Given the description of an element on the screen output the (x, y) to click on. 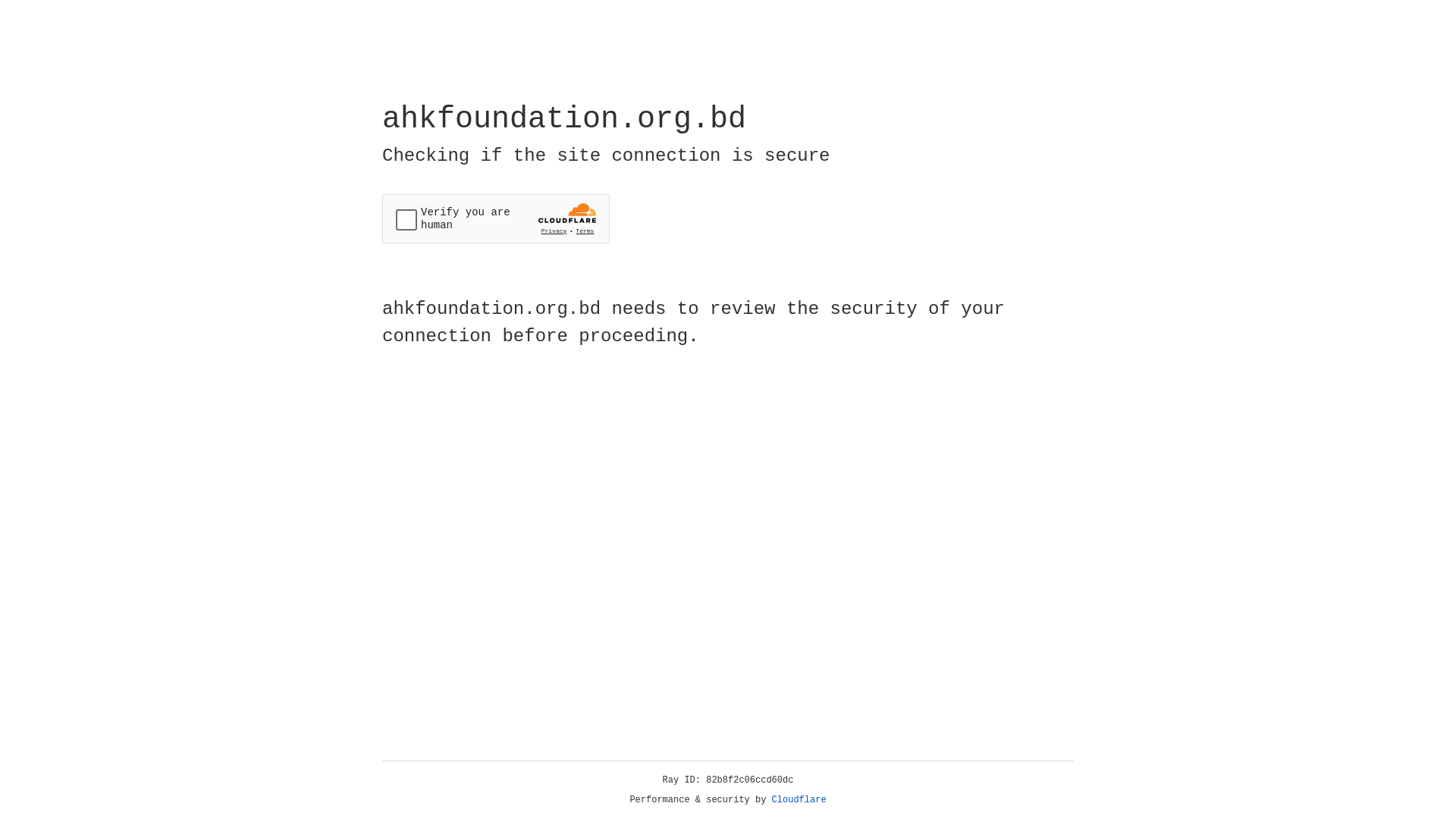
Cloudflare Element type: text (798, 799)
Widget containing a Cloudflare security challenge Element type: hover (495, 218)
